Given the description of an element on the screen output the (x, y) to click on. 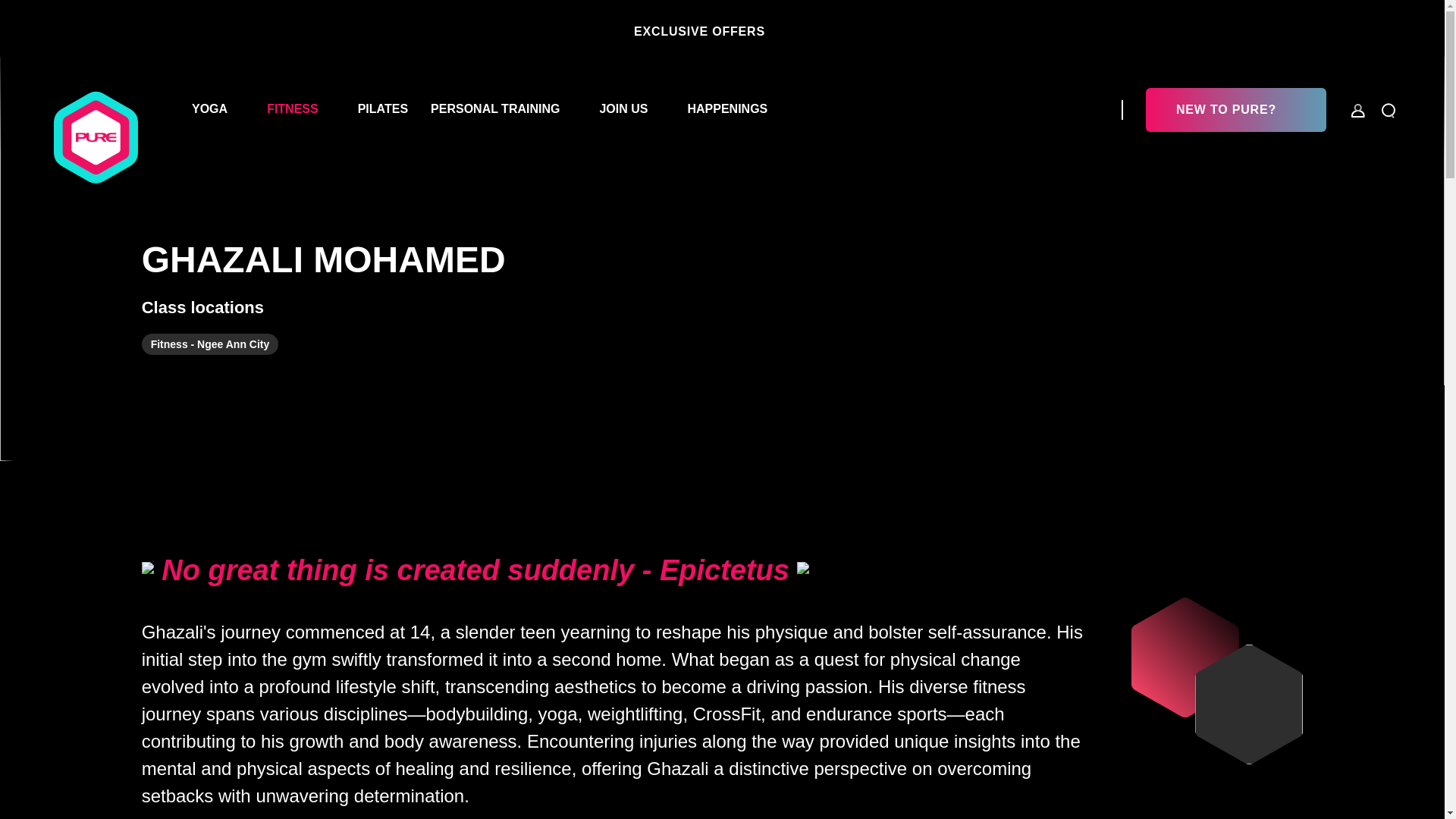
PILATES (382, 108)
FITNESS (292, 108)
PERSONAL TRAINING (494, 108)
YOGA (209, 108)
ALL PERSONAL TRAINERS (722, 9)
NEW TO PURE? (1235, 109)
JOIN US (622, 108)
HAPPENINGS (727, 108)
